Given the description of an element on the screen output the (x, y) to click on. 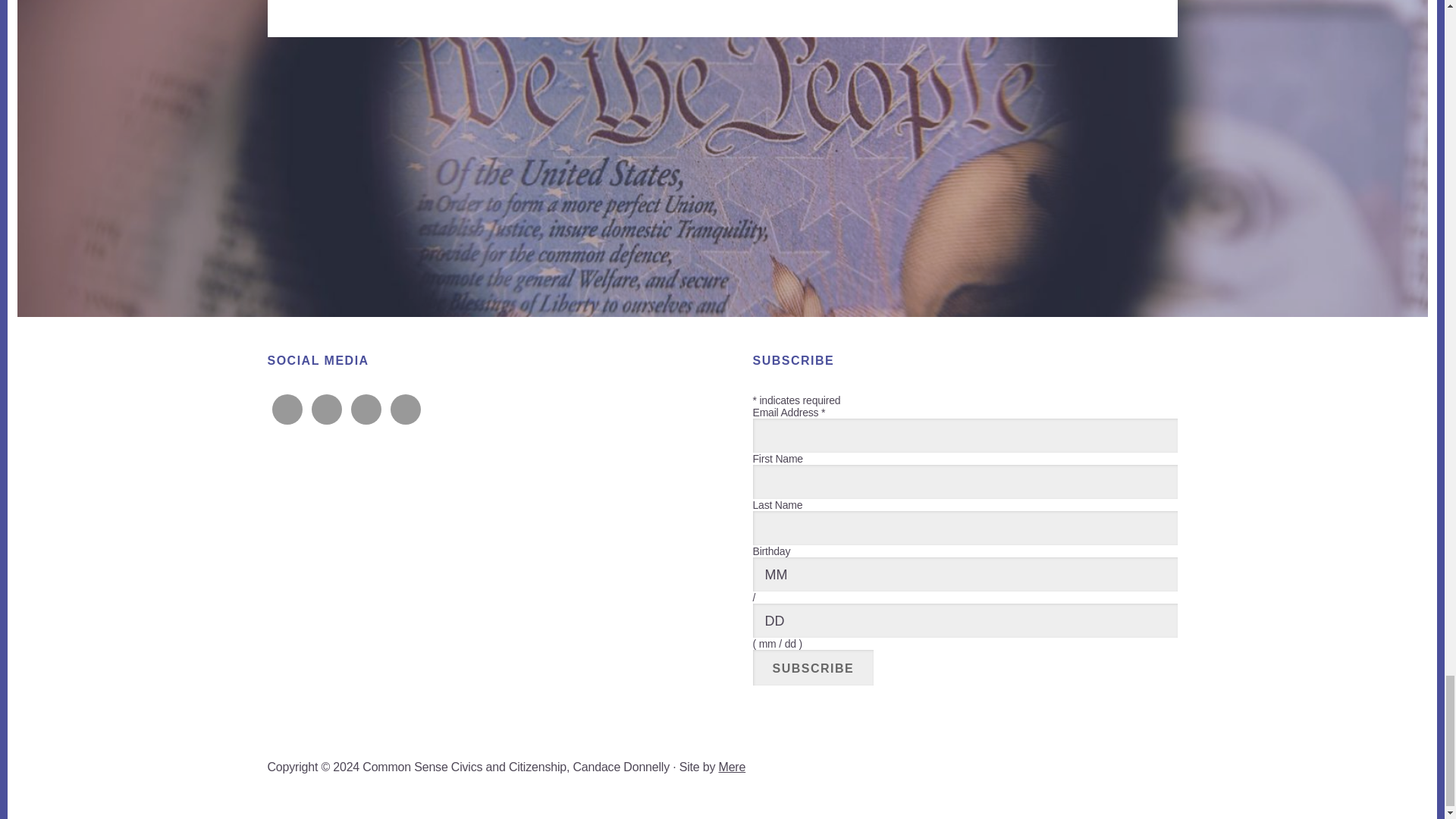
Subscribe (812, 667)
